Given the description of an element on the screen output the (x, y) to click on. 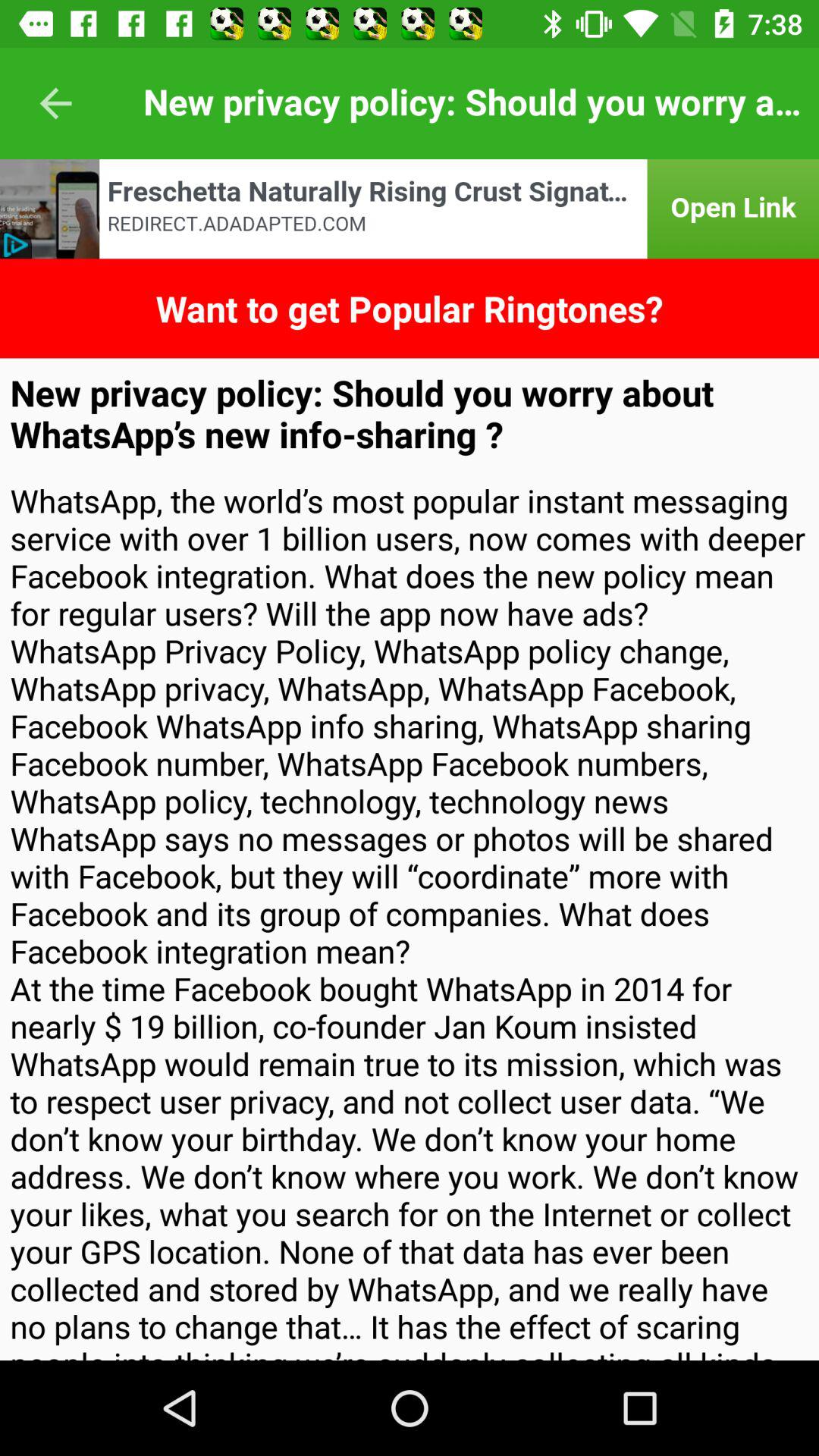
open icon at the top left corner (55, 103)
